Given the description of an element on the screen output the (x, y) to click on. 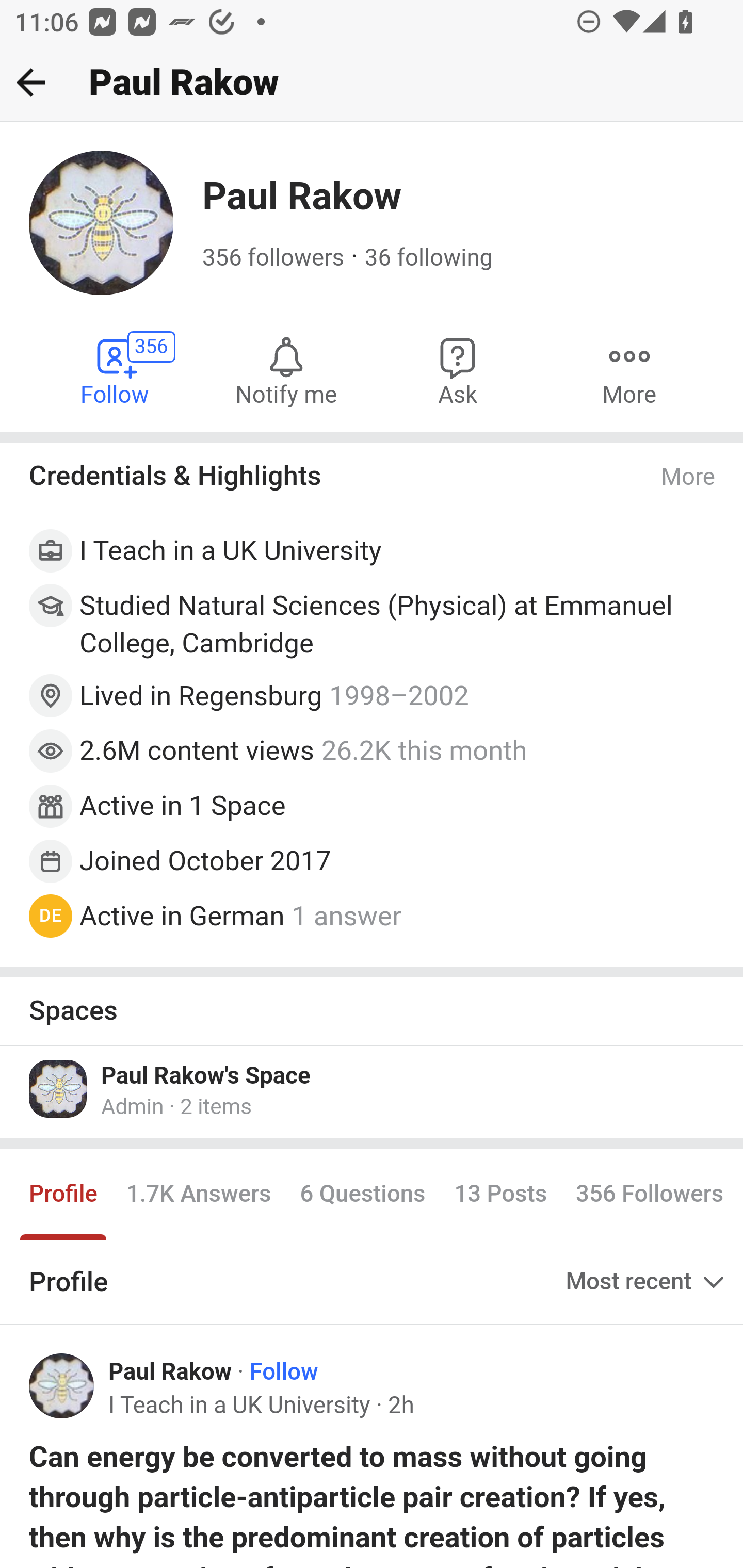
Me Home Search Add (371, 82)
Back Paul Rakow (371, 82)
Back (30, 82)
356 followers (273, 257)
36 following (428, 257)
Follow Paul Rakow 356 Follow (115, 370)
Notify me (285, 370)
Ask (458, 370)
More (628, 370)
More (688, 477)
Active in German Active in  German (182, 914)
Icon for Paul Rakow's Space (58, 1087)
Paul Rakow's Space (206, 1075)
Profile (63, 1193)
1.7K Answers (197, 1193)
6 Questions (362, 1193)
13 Posts (500, 1193)
356 Followers (648, 1193)
Most recent (647, 1280)
Profile photo for Paul Rakow (61, 1386)
Paul Rakow (170, 1372)
Follow (283, 1372)
2h 2 h (400, 1406)
